Given the description of an element on the screen output the (x, y) to click on. 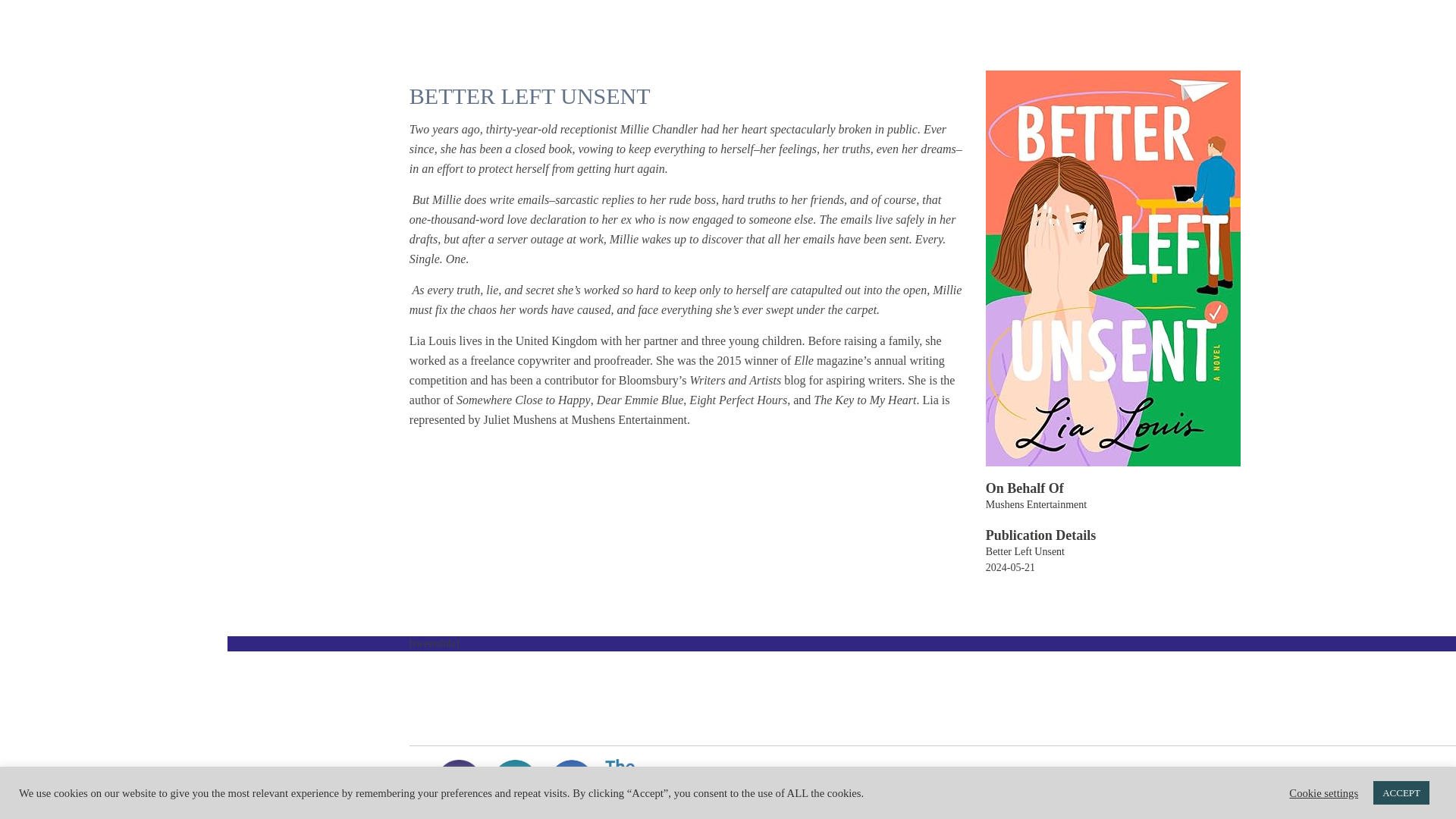
BETTER LEFT UNSENT (529, 95)
ACCEPT (1401, 792)
Cookie settings (1323, 792)
